Given the description of an element on the screen output the (x, y) to click on. 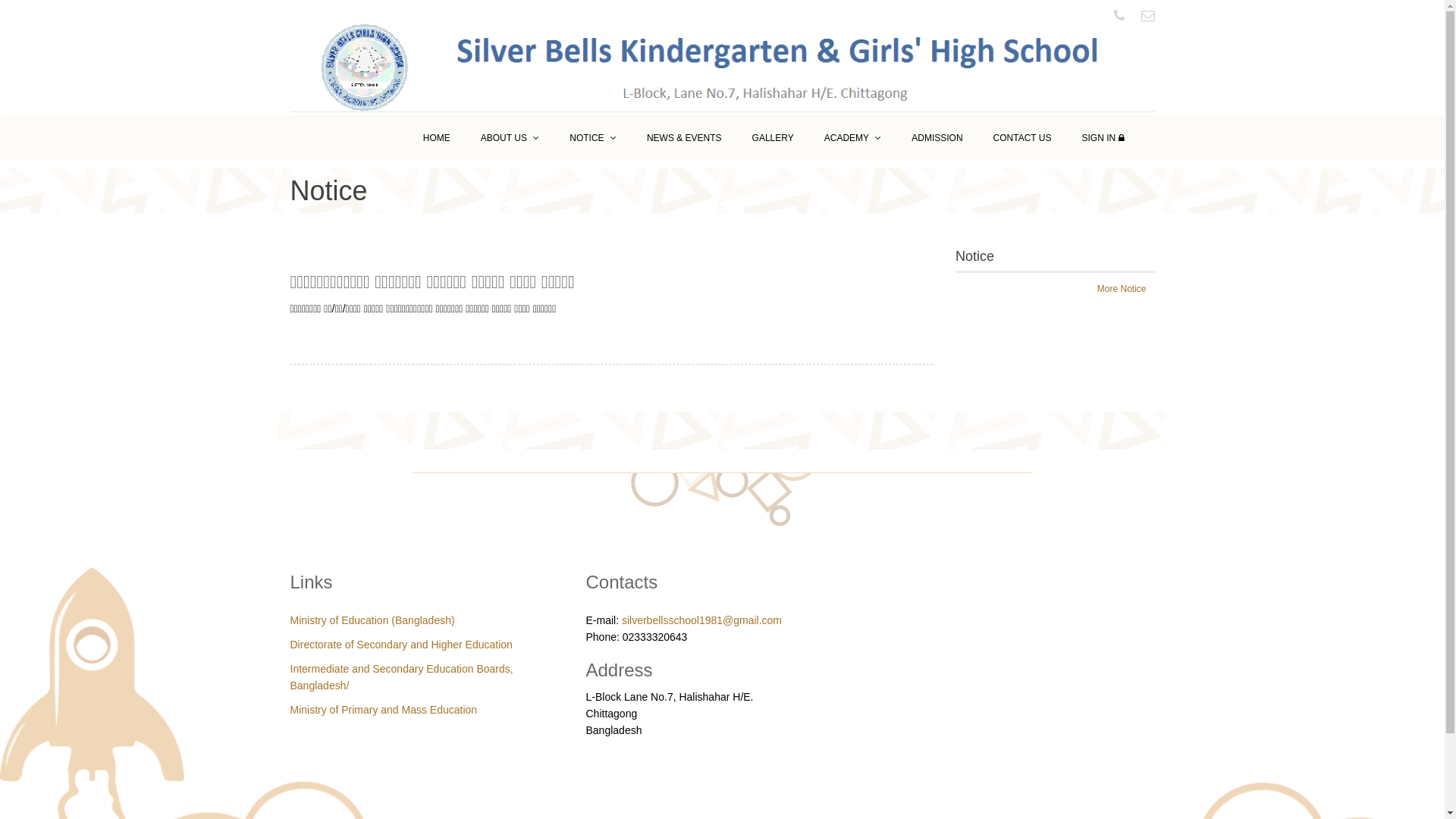
SIGN IN Element type: text (1102, 137)
Ministry of Primary and Mass Education Element type: text (382, 709)
NOTICE Element type: text (592, 137)
Ministry of Education (Bangladesh) Element type: text (371, 620)
silverbellsschool1981@gmail.com Element type: text (701, 620)
GALLERY Element type: text (773, 137)
HOME Element type: text (436, 137)
NEWS & EVENTS Element type: text (684, 137)
ADMISSION Element type: text (936, 137)
More Notice Element type: text (1121, 288)
CONTACT US Element type: text (1022, 137)
ABOUT US Element type: text (509, 137)
ACADEMY Element type: text (852, 137)
Intermediate and Secondary Education Boards, Bangladesh/ Element type: text (400, 676)
Directorate of Secondary and Higher Education Element type: text (400, 644)
